Given the description of an element on the screen output the (x, y) to click on. 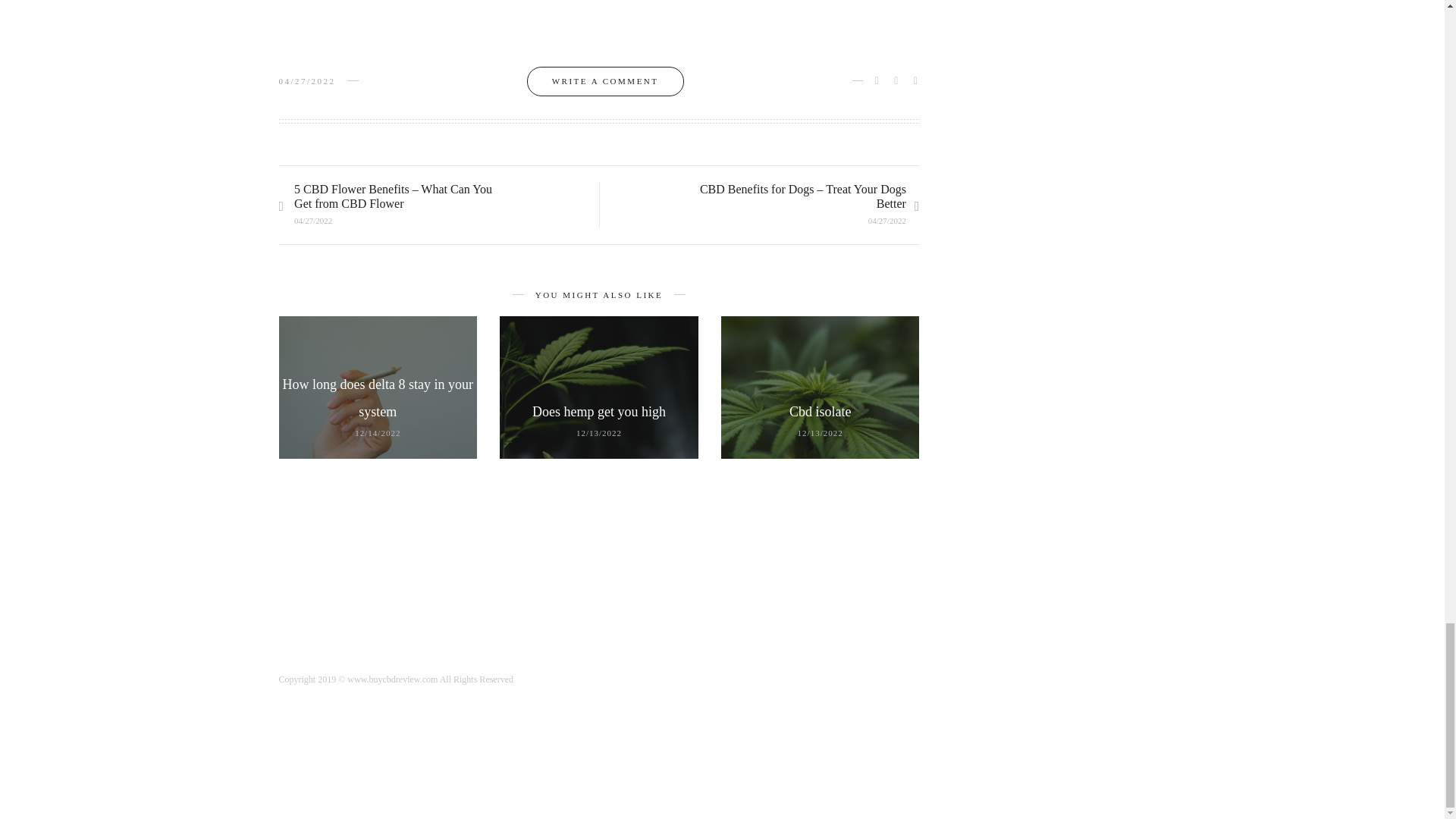
Does hemp get you high (598, 411)
How long does delta 8 stay in your system (377, 397)
Cbd isolate (820, 411)
